Given the description of an element on the screen output the (x, y) to click on. 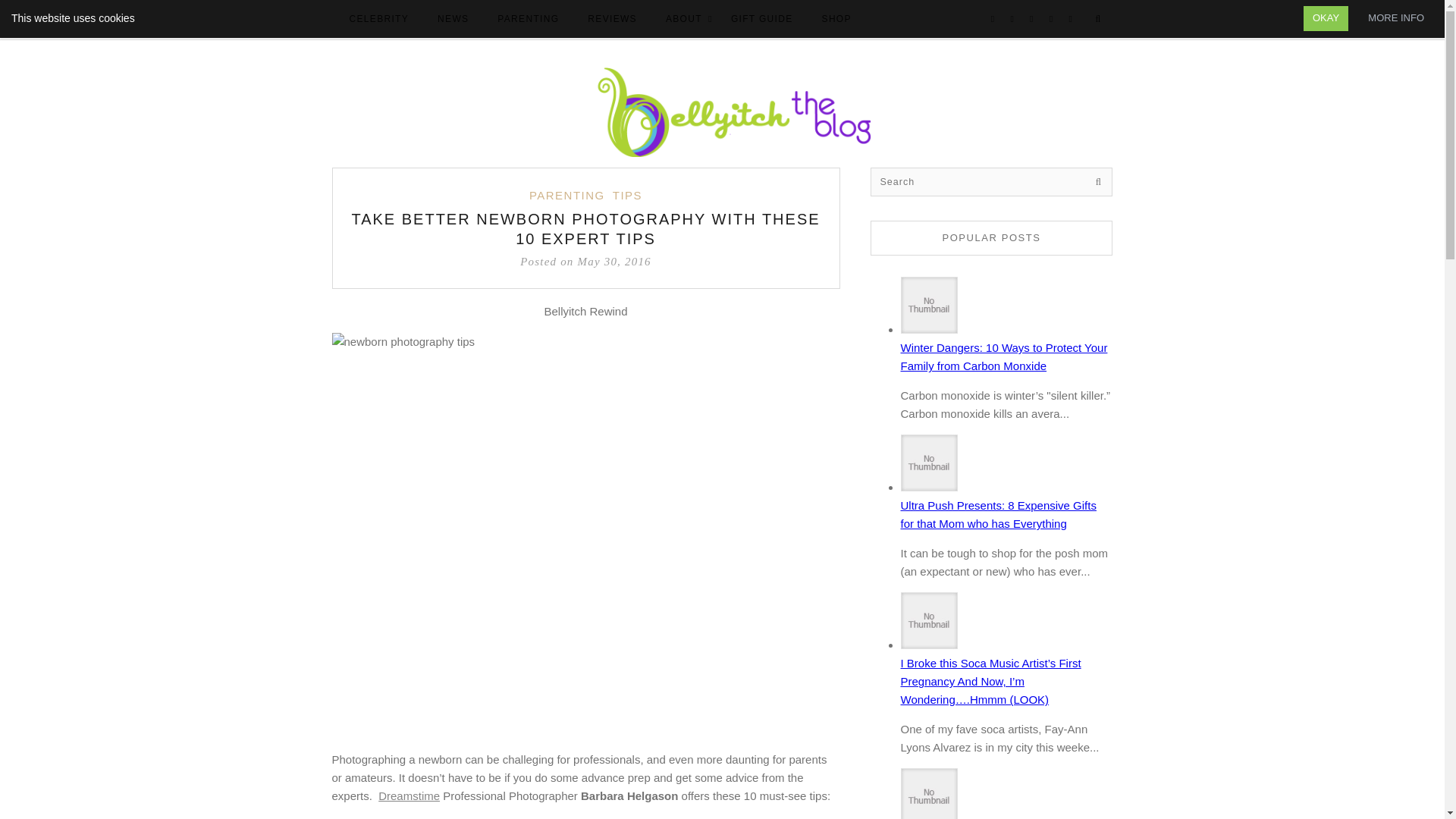
TAKE BETTER NEWBORN PHOTOGRAPHY WITH THESE 10 EXPERT TIPS (584, 228)
PARENTING (527, 19)
REVIEWS (611, 19)
CELEBRITY (378, 19)
Dreamstime (408, 795)
PARENTING (567, 195)
TIPS (627, 195)
SHOP (836, 19)
NEWS (452, 19)
ABOUT (684, 19)
2016-05-30 15:34:18 (585, 261)
GIFT GUIDE (761, 19)
